Given the description of an element on the screen output the (x, y) to click on. 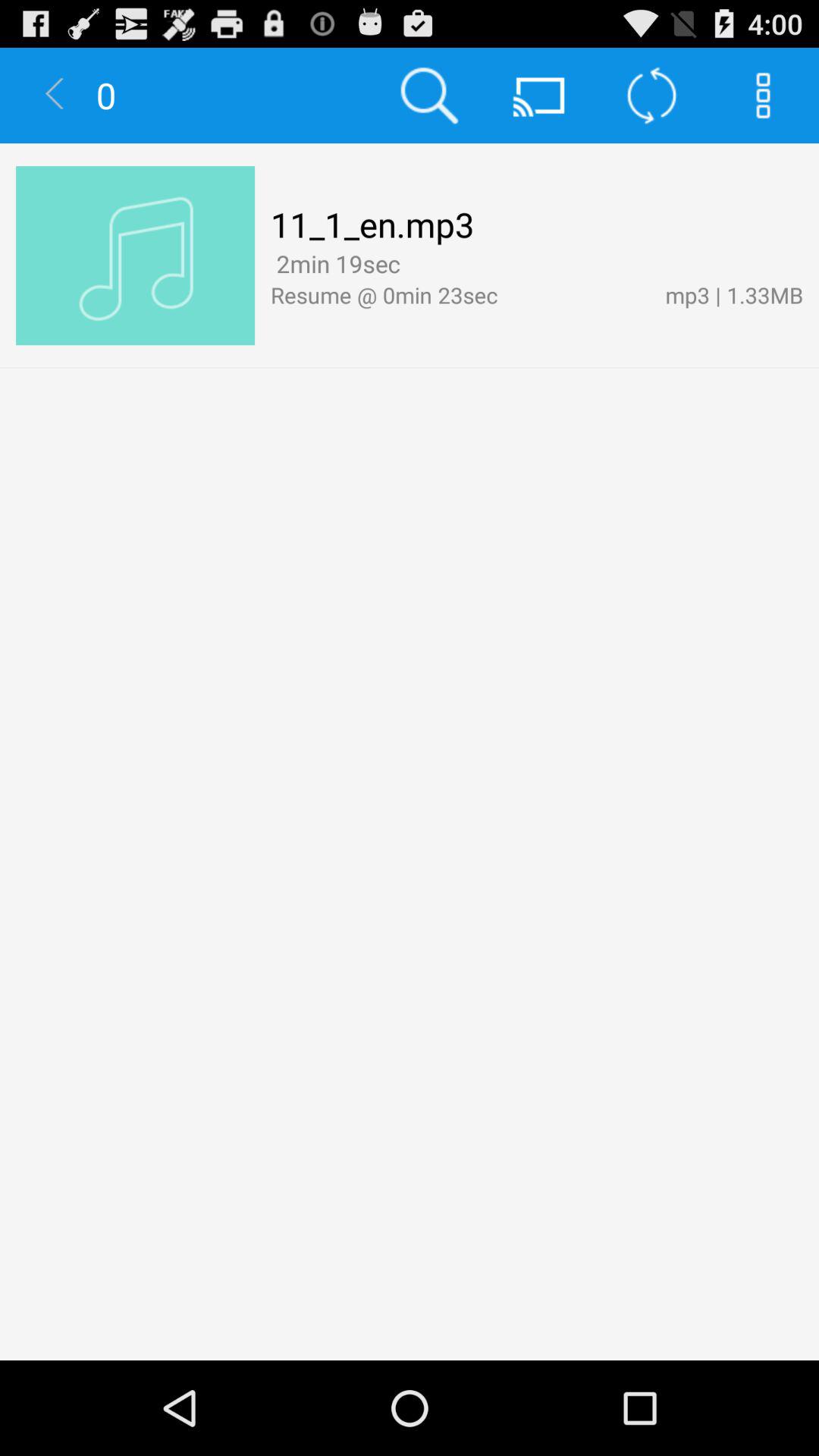
launch the icon to the right of  2min 19sec icon (411, 265)
